Given the description of an element on the screen output the (x, y) to click on. 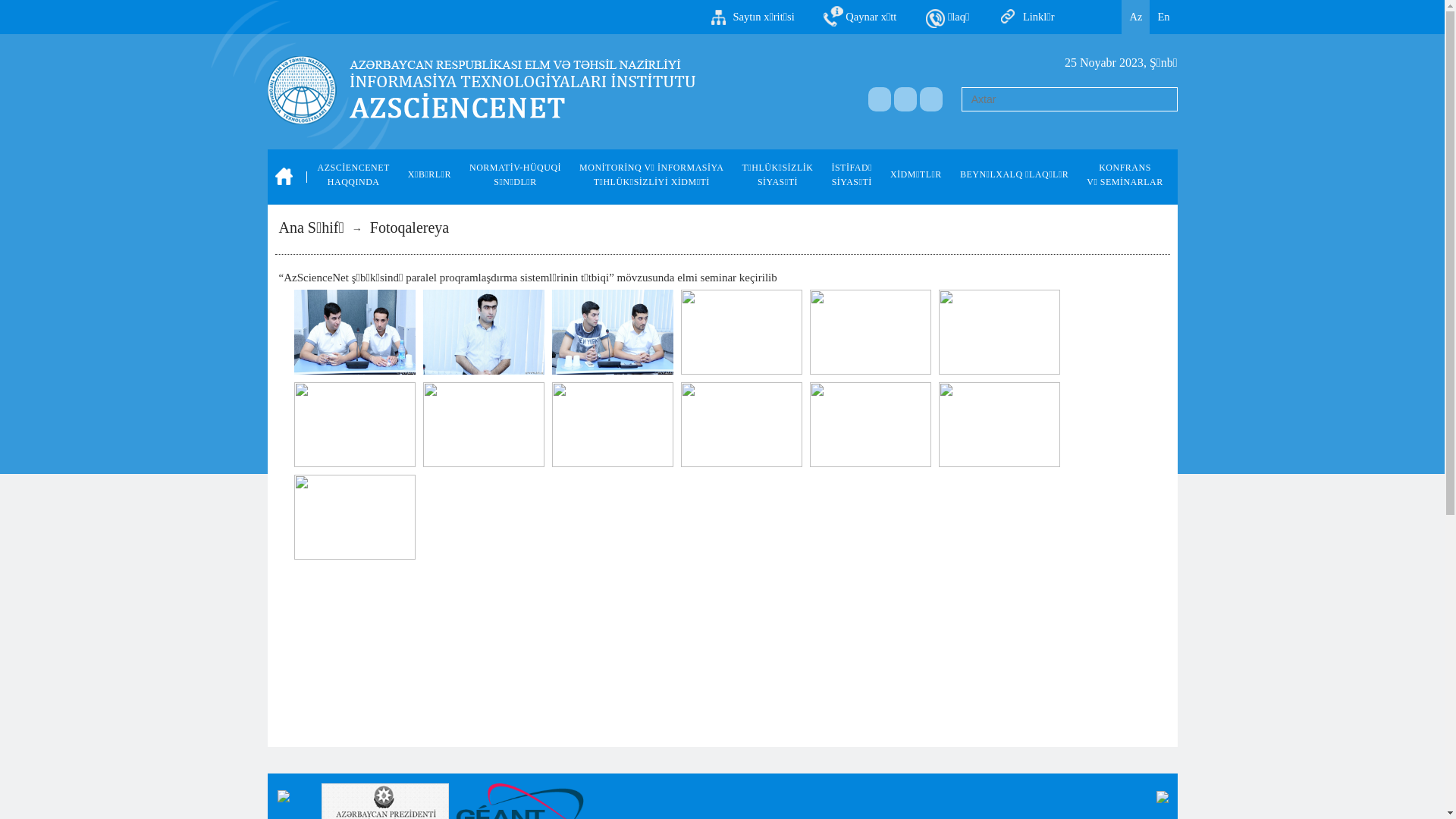
a Element type: text (879, 99)
En Element type: text (1162, 17)
Az Element type: text (1135, 17)
a Element type: text (905, 99)
Fotoqalereya Element type: text (409, 227)
a Element type: text (930, 99)
